Given the description of an element on the screen output the (x, y) to click on. 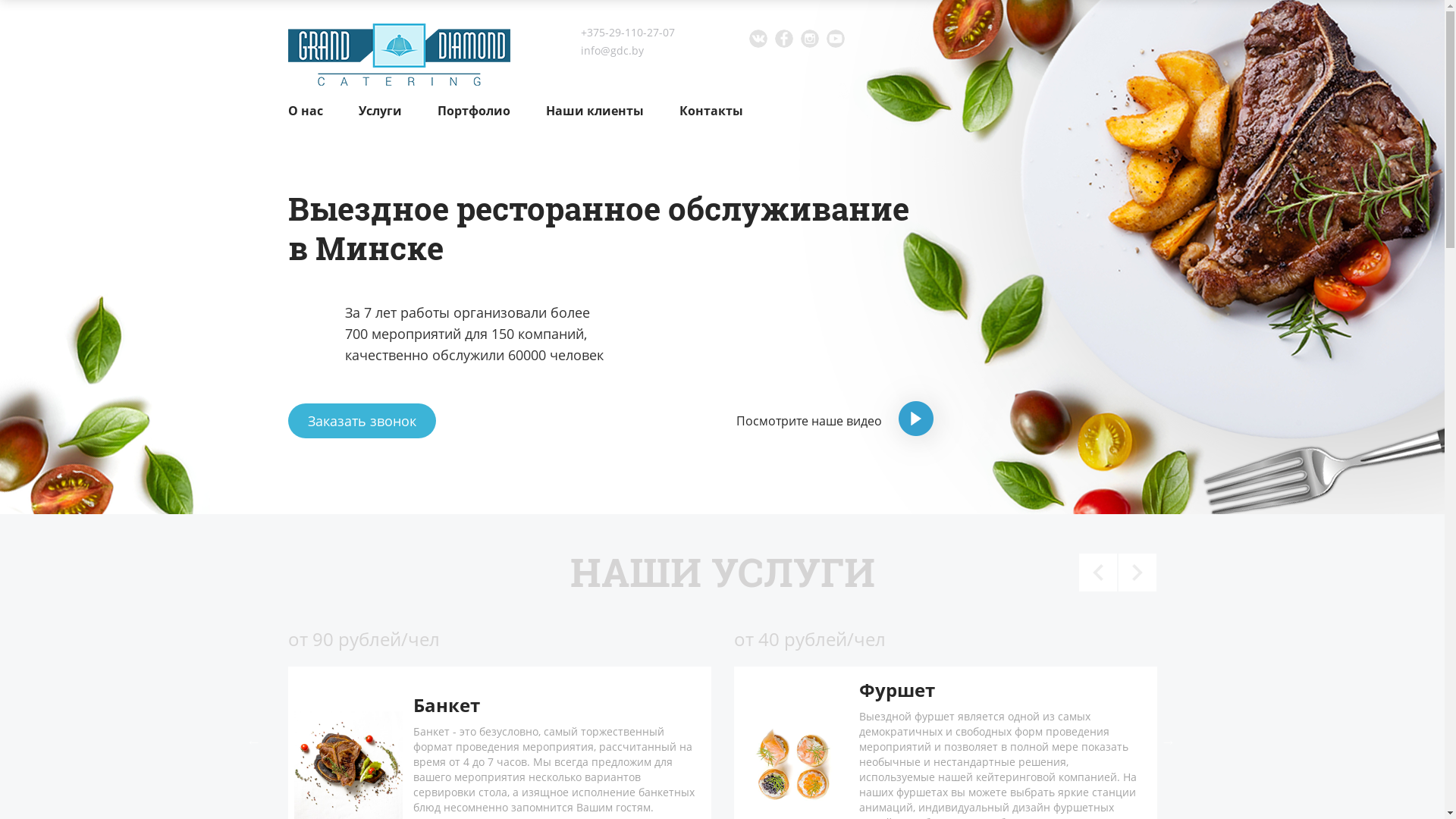
info@gdc.by Element type: text (611, 50)
+375-29-110-27-07 Element type: text (627, 32)
